Given the description of an element on the screen output the (x, y) to click on. 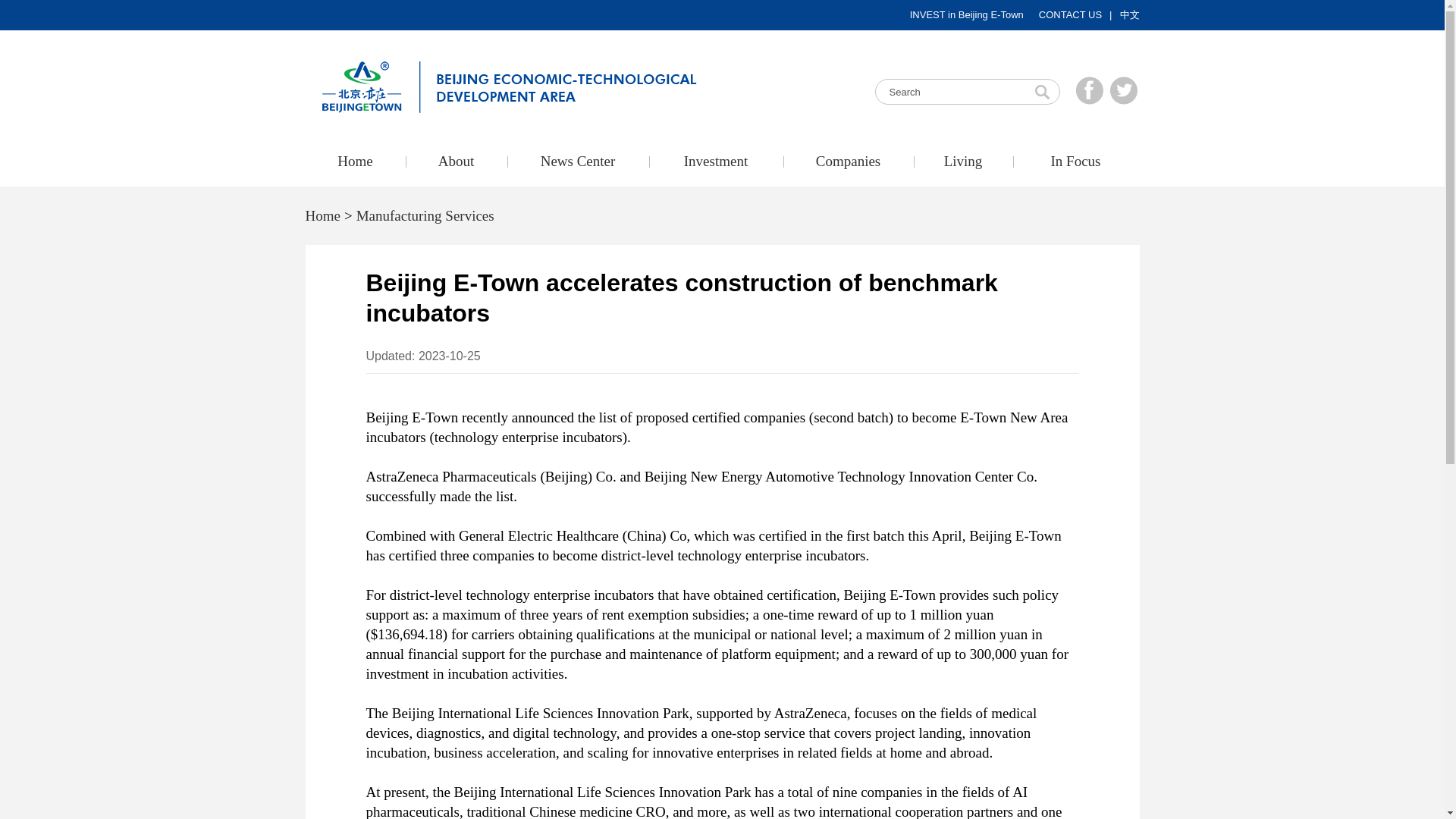
Companies (847, 161)
Living (961, 161)
Search (1042, 91)
Search (967, 91)
Home (354, 161)
About (455, 161)
Investment (716, 161)
INVEST in Beijing E-Town (966, 15)
